Given the description of an element on the screen output the (x, y) to click on. 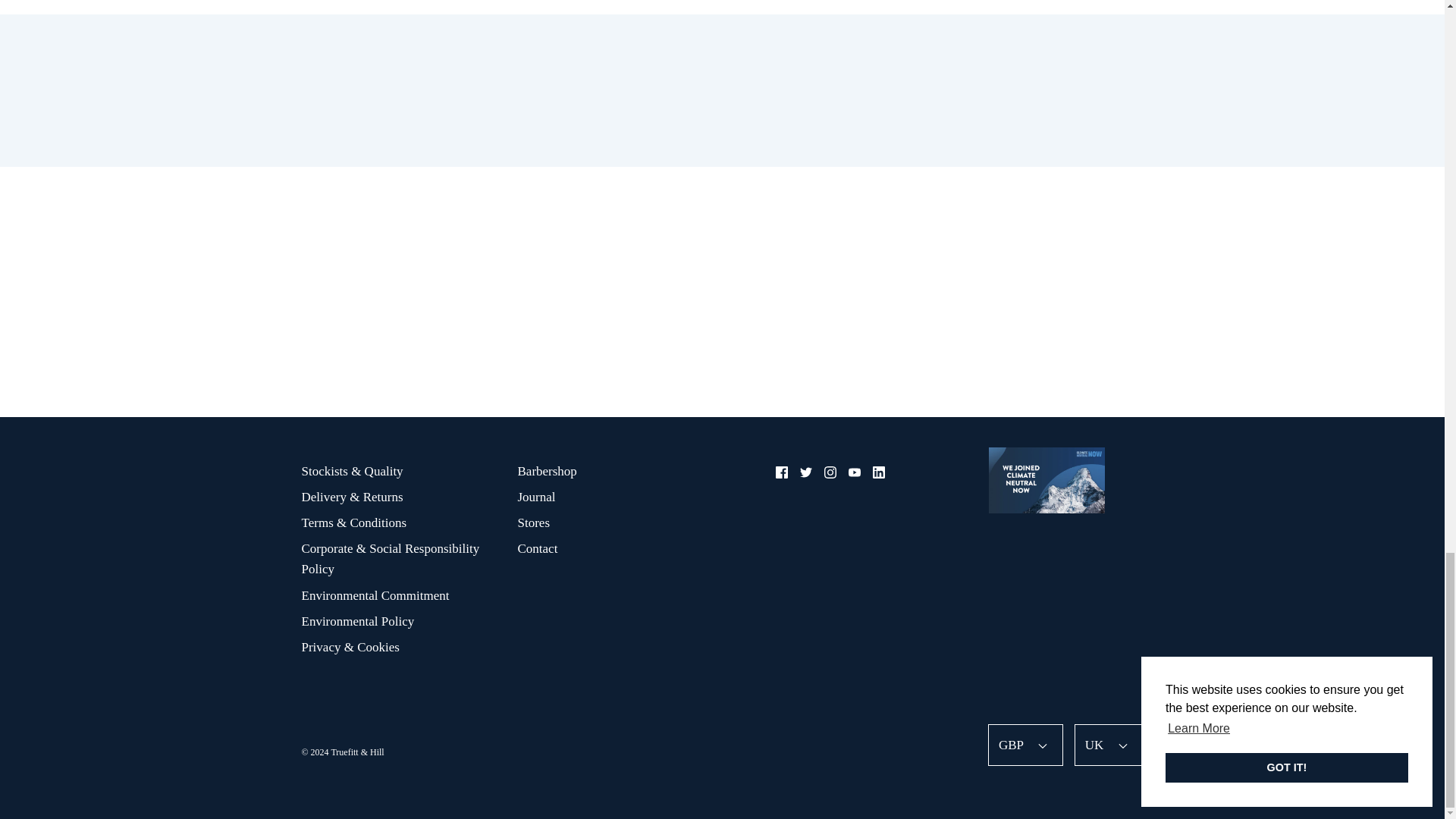
LinkedIn icon (878, 472)
Instagram icon (829, 472)
YouTube icon (854, 472)
Twitter icon (805, 472)
Facebook icon (781, 472)
